Given the description of an element on the screen output the (x, y) to click on. 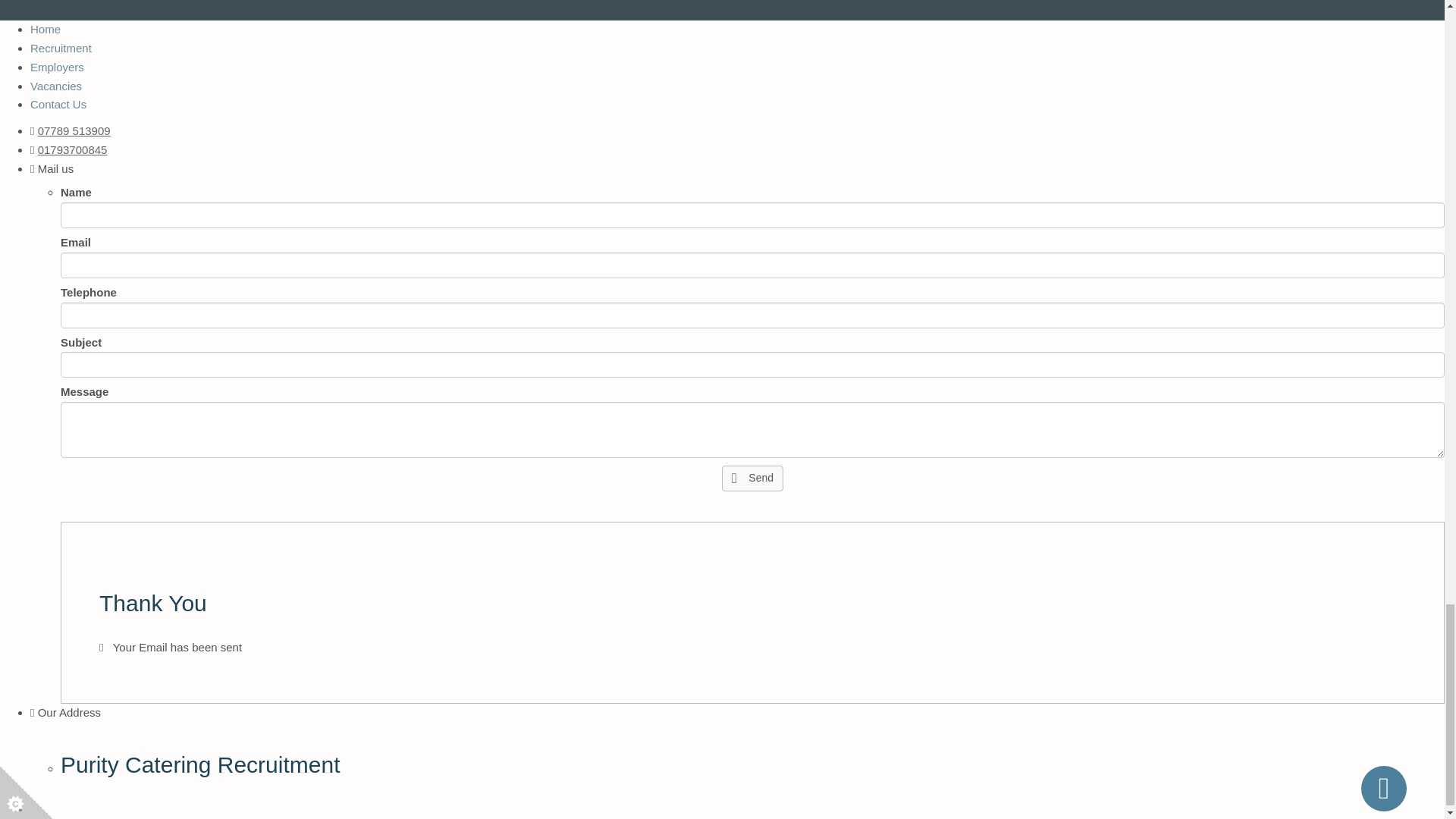
Employers (57, 66)
Recruitment (60, 47)
Contact Us (57, 103)
07789 513909 (73, 130)
Home (45, 29)
Vacancies (55, 84)
